Given the description of an element on the screen output the (x, y) to click on. 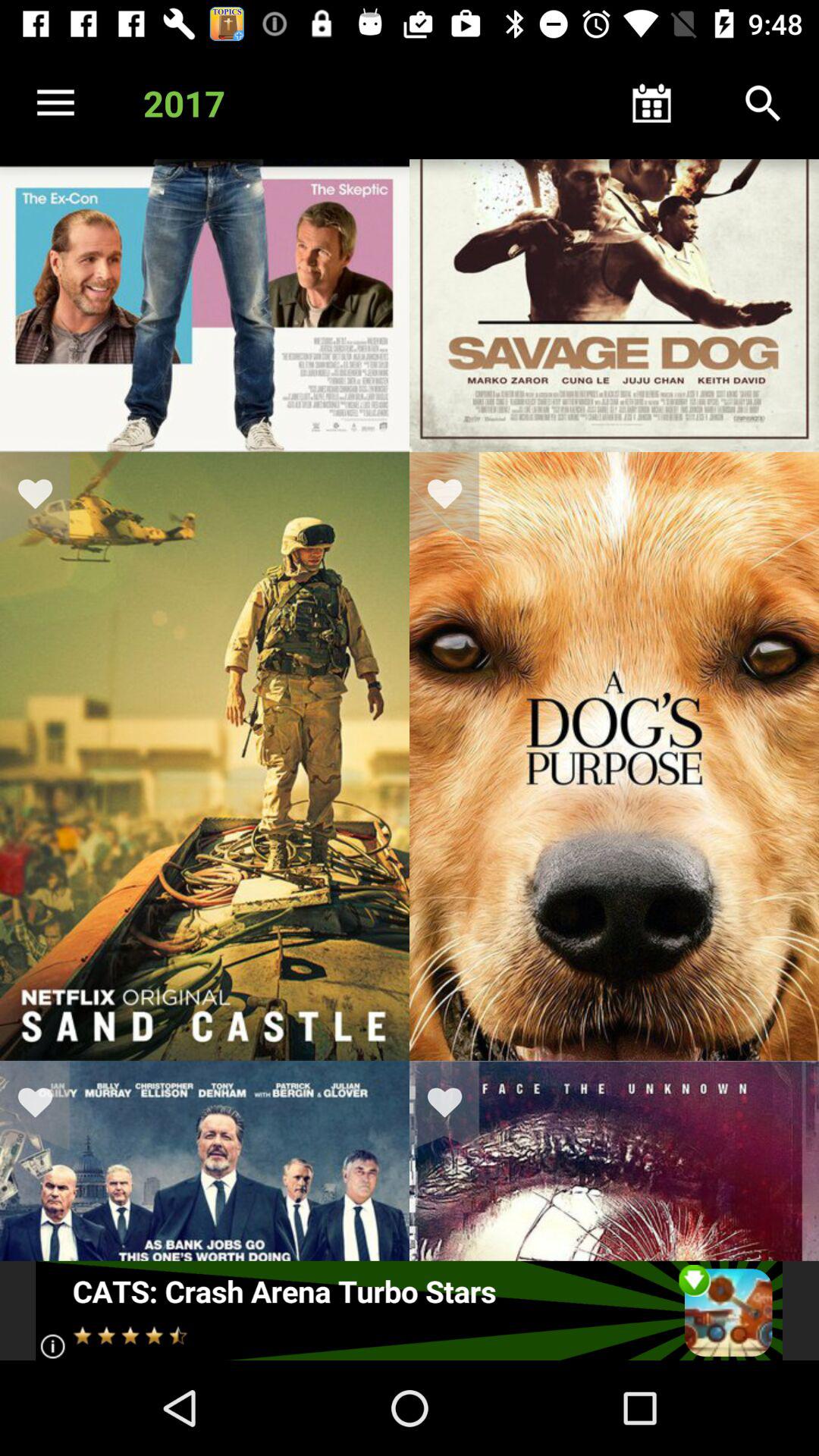
launch item next to 2017 icon (55, 103)
